Given the description of an element on the screen output the (x, y) to click on. 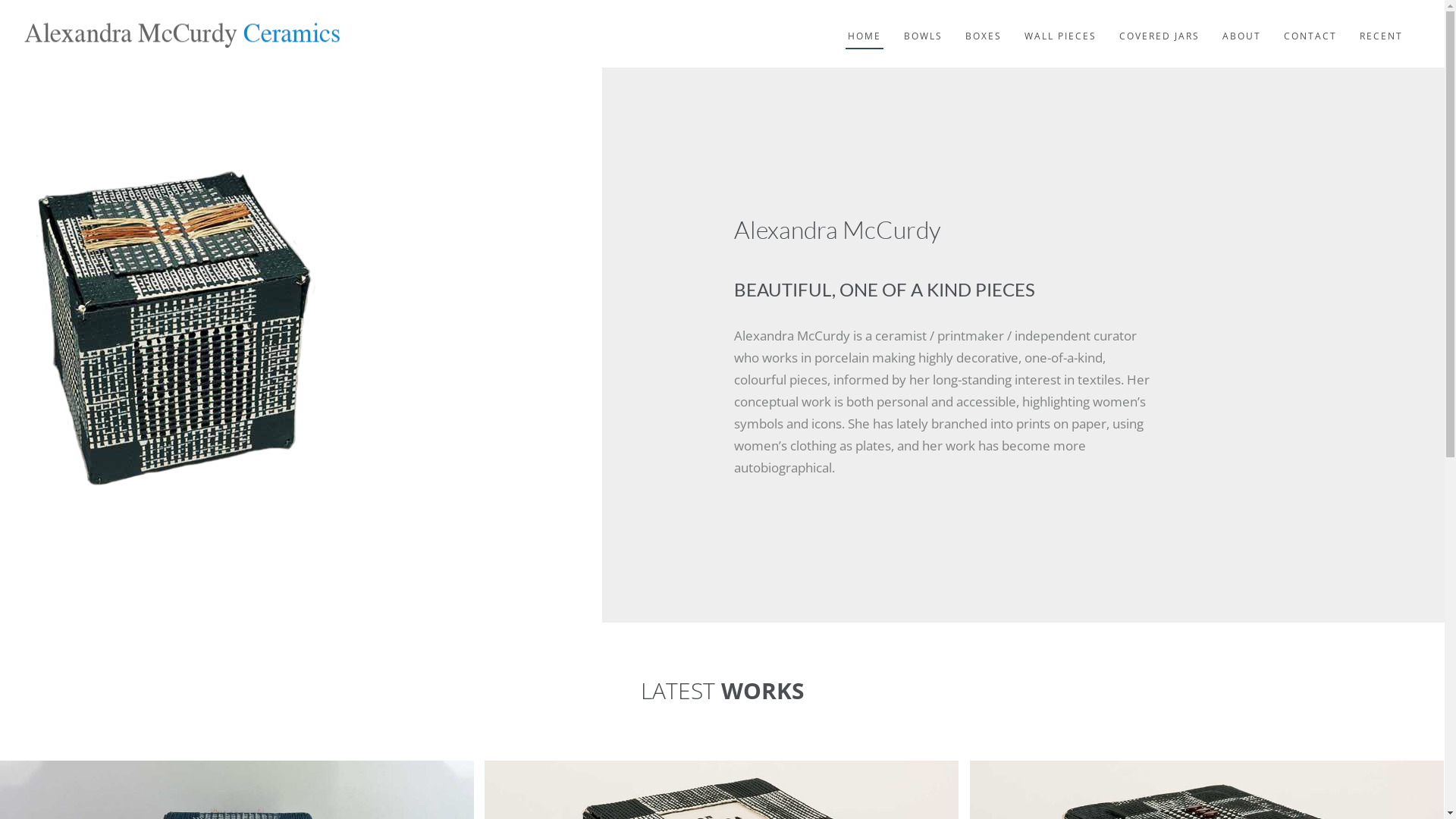
BOWLS Element type: text (922, 24)
CONTACT Element type: text (1310, 24)
BOXES Element type: text (983, 24)
ABOUT Element type: text (1241, 24)
COVERED JARS Element type: text (1159, 24)
WALL PIECES Element type: text (1060, 24)
RECENT Element type: text (1381, 24)
HOME Element type: text (864, 24)
